Given the description of an element on the screen output the (x, y) to click on. 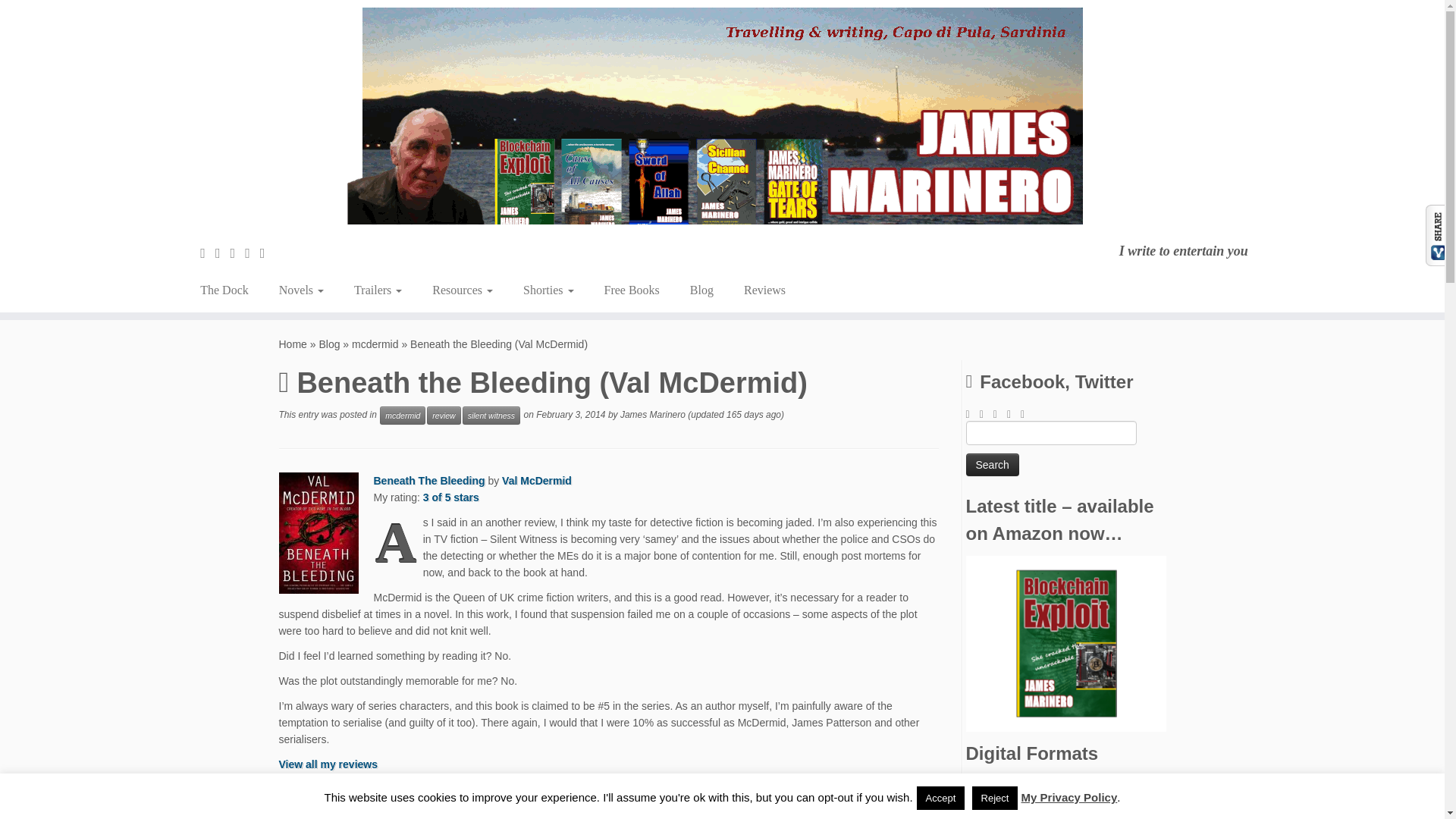
Follow me on Twitter (222, 253)
View all posts by James Marinero (652, 415)
View all posts in silent witness (491, 415)
James Marinero (293, 344)
Blog (328, 344)
mcdermid (374, 344)
15:37 (570, 415)
Follow me on Pinterest (267, 253)
Novels (301, 289)
Trailers (377, 289)
The Dock (229, 289)
Follow me on Linkedin (252, 253)
View all posts in review (443, 415)
Search (992, 464)
Resources (462, 289)
